Given the description of an element on the screen output the (x, y) to click on. 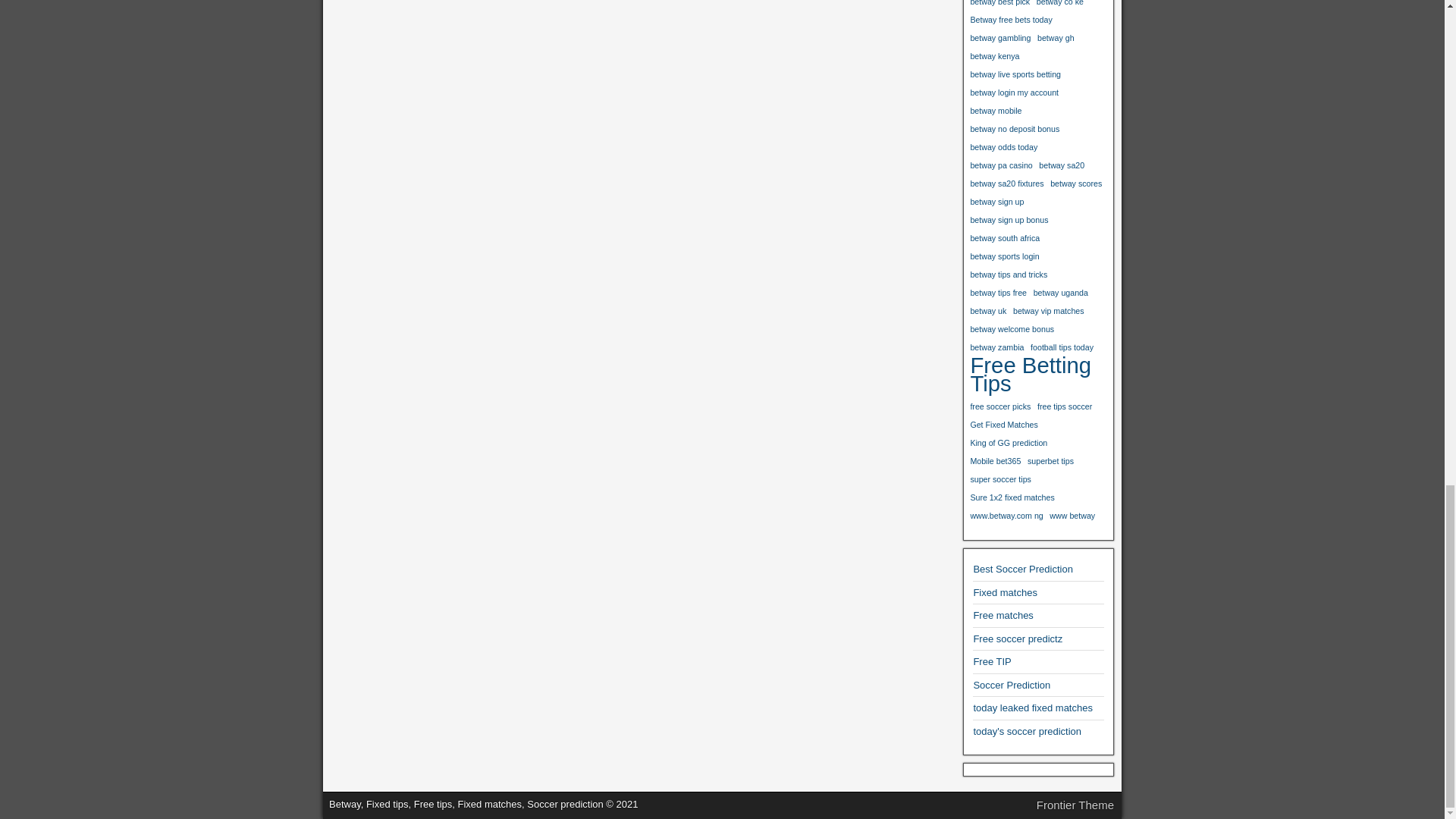
betway gh (1055, 37)
Betway free bets today (1010, 19)
betway tips and tricks (1007, 274)
betway kenya (994, 55)
betway gambling (999, 37)
betway tips free (997, 292)
betway south africa (1004, 238)
betway scores (1075, 183)
betway co ke (1059, 5)
betway sign up bonus (1008, 219)
betway live sports betting (1015, 74)
betway no deposit bonus (1014, 128)
betway sign up (996, 201)
betway login my account (1013, 92)
betway uganda (1060, 292)
